Given the description of an element on the screen output the (x, y) to click on. 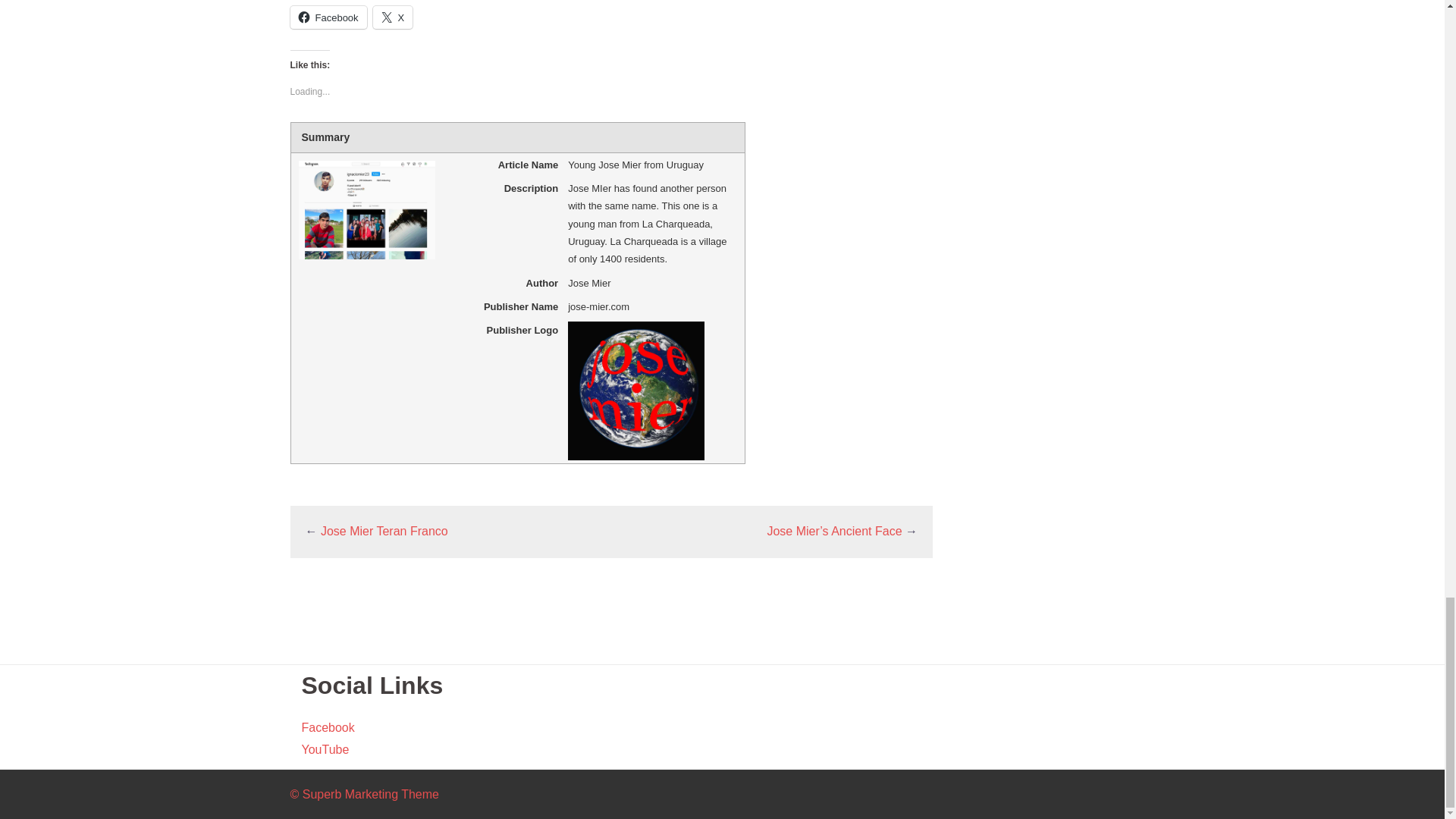
Facebook (327, 16)
Jose Mier Teran Franco (384, 530)
Click to share on X (392, 16)
X (392, 16)
Click to share on Facebook (327, 16)
